Given the description of an element on the screen output the (x, y) to click on. 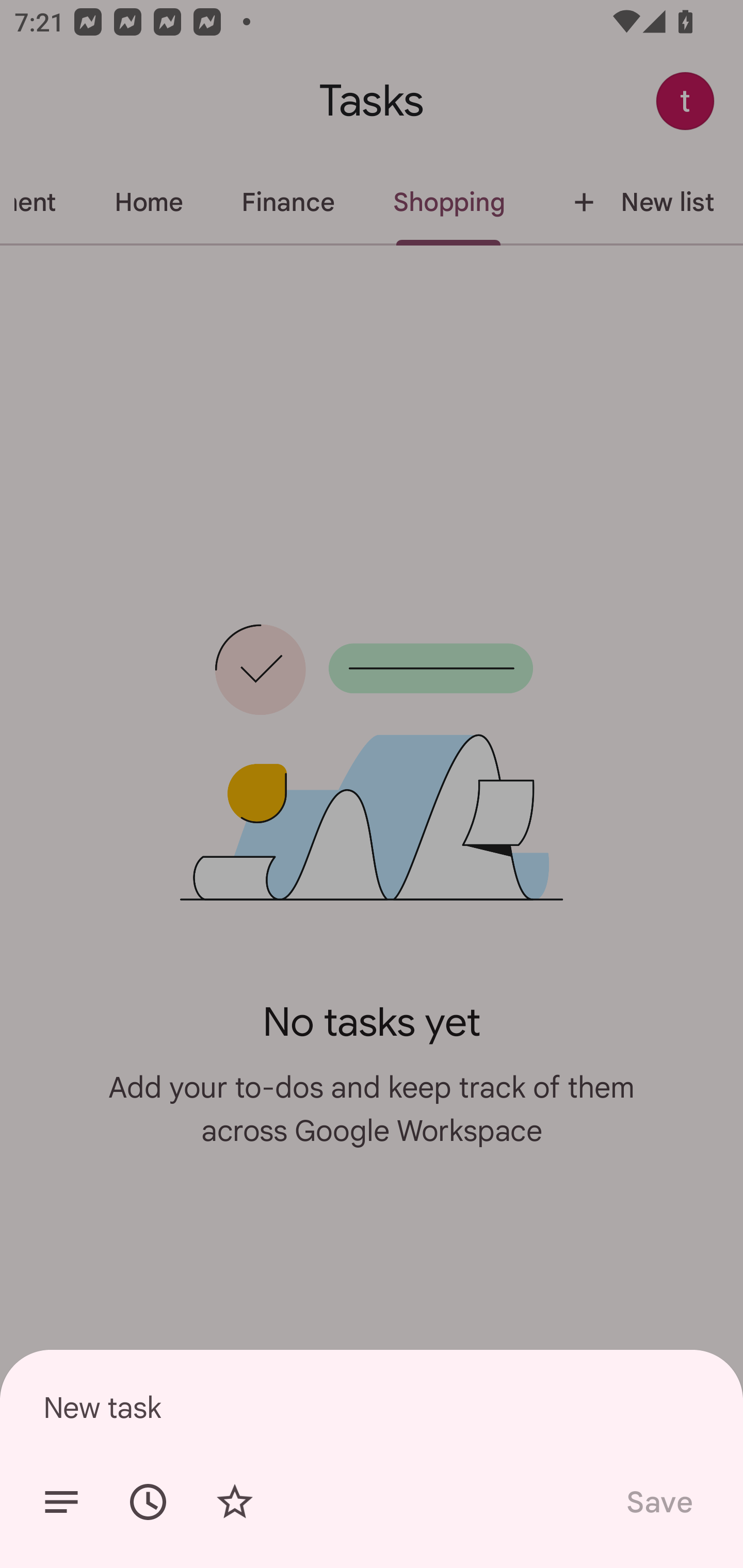
New task (371, 1407)
Save (659, 1501)
Add details (60, 1501)
Set date/time (147, 1501)
Add star (234, 1501)
